Given the description of an element on the screen output the (x, y) to click on. 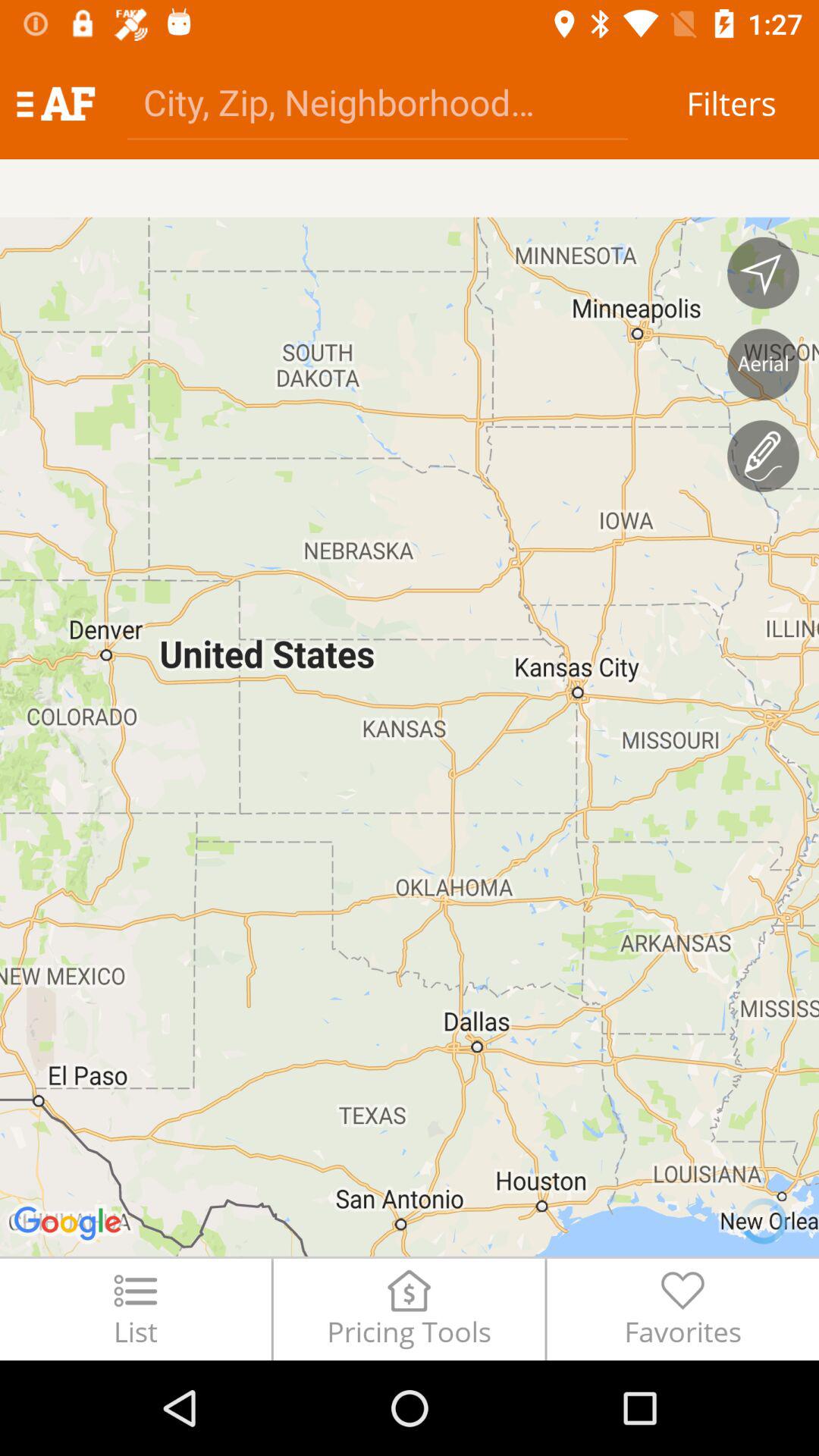
search textbox (377, 102)
